Given the description of an element on the screen output the (x, y) to click on. 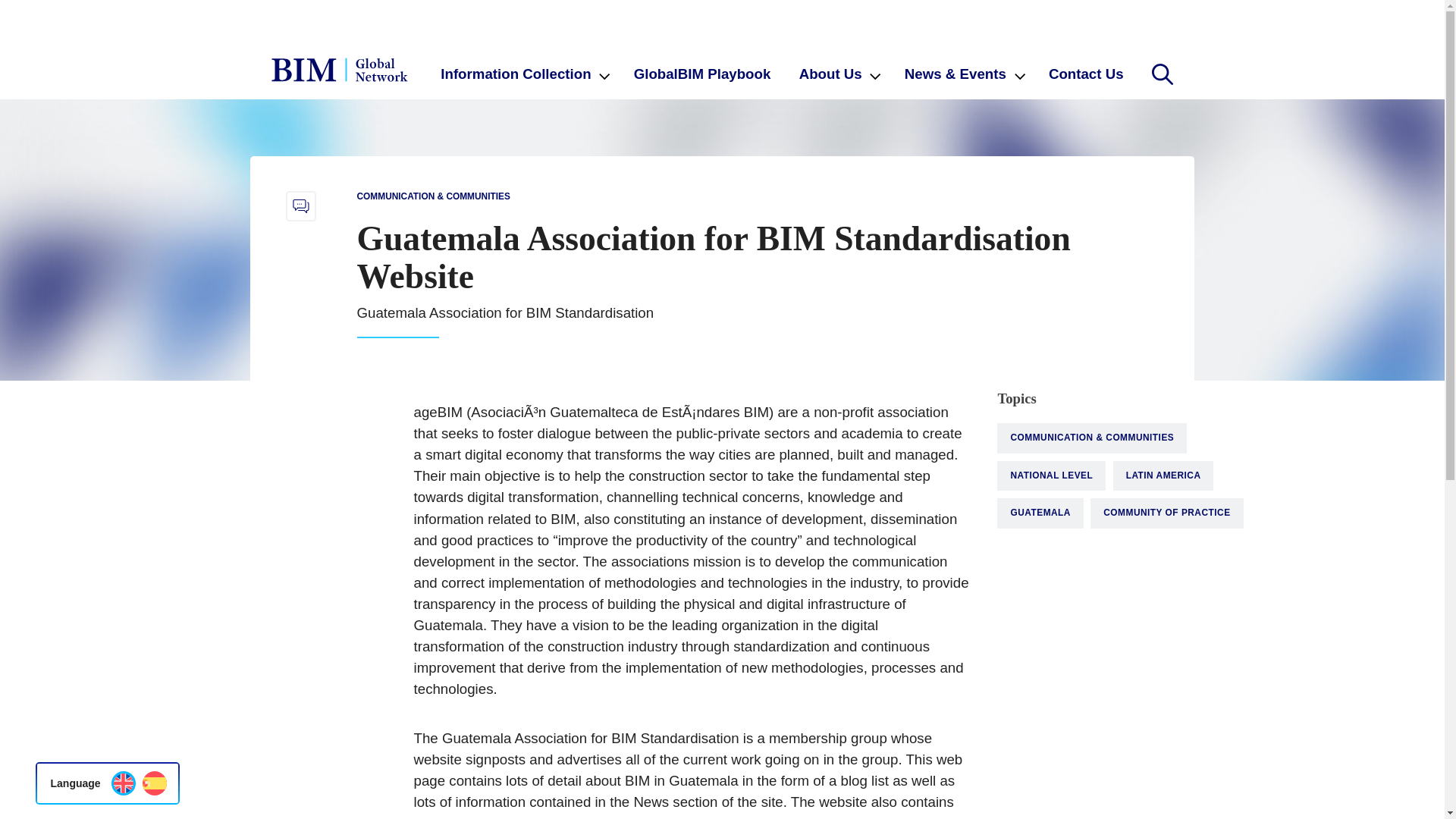
GlobalBIM Playbook (702, 73)
LATIN AMERICA (1163, 476)
GUATEMALA (1040, 512)
Search (1162, 74)
NATIONAL LEVEL (1051, 476)
Contact Us (1085, 73)
Information Collection (523, 73)
About Us (836, 73)
COMMUNITY OF PRACTICE (1166, 512)
search (1162, 74)
